Given the description of an element on the screen output the (x, y) to click on. 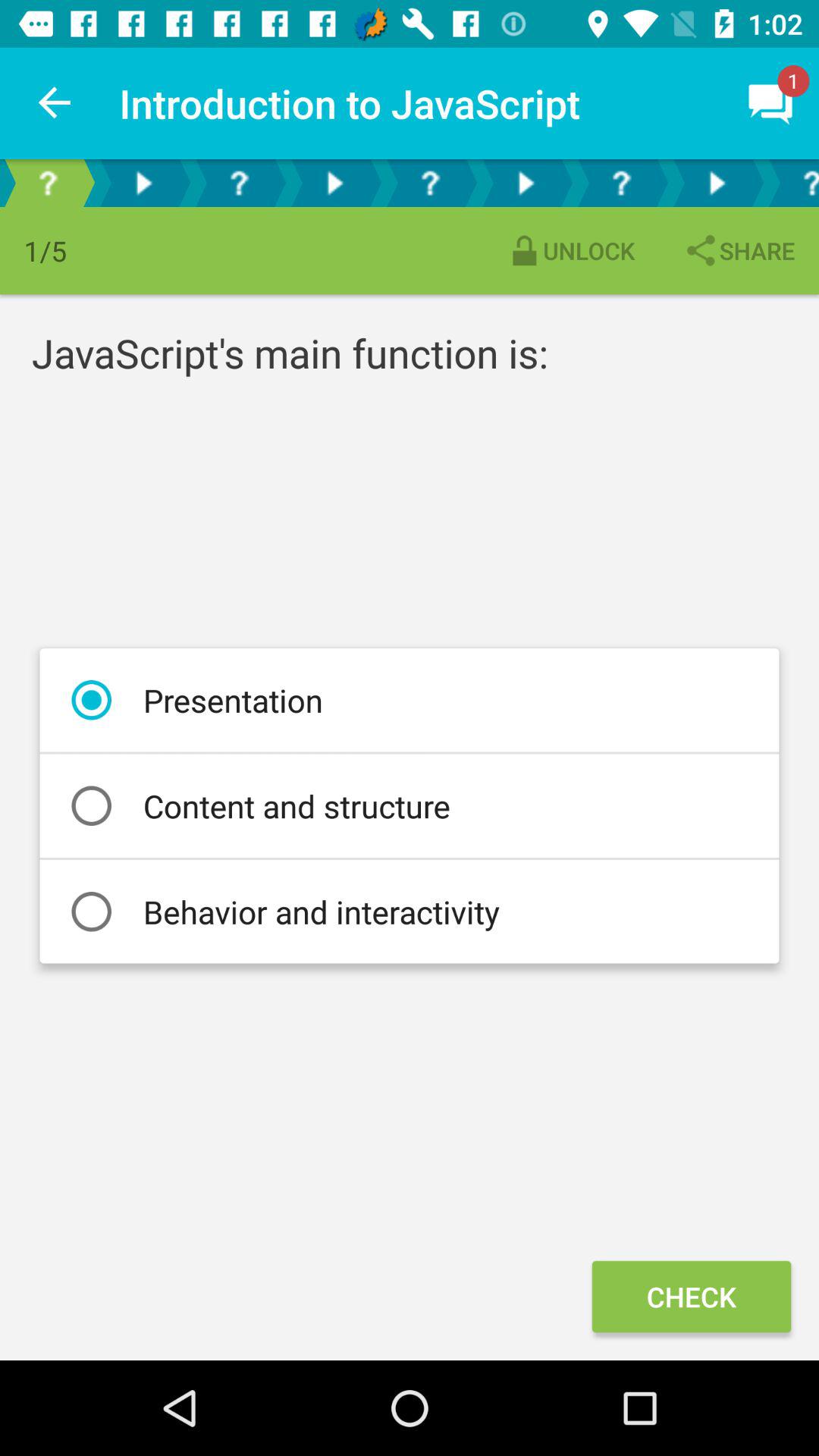
skip to the 7th step (620, 183)
